Given the description of an element on the screen output the (x, y) to click on. 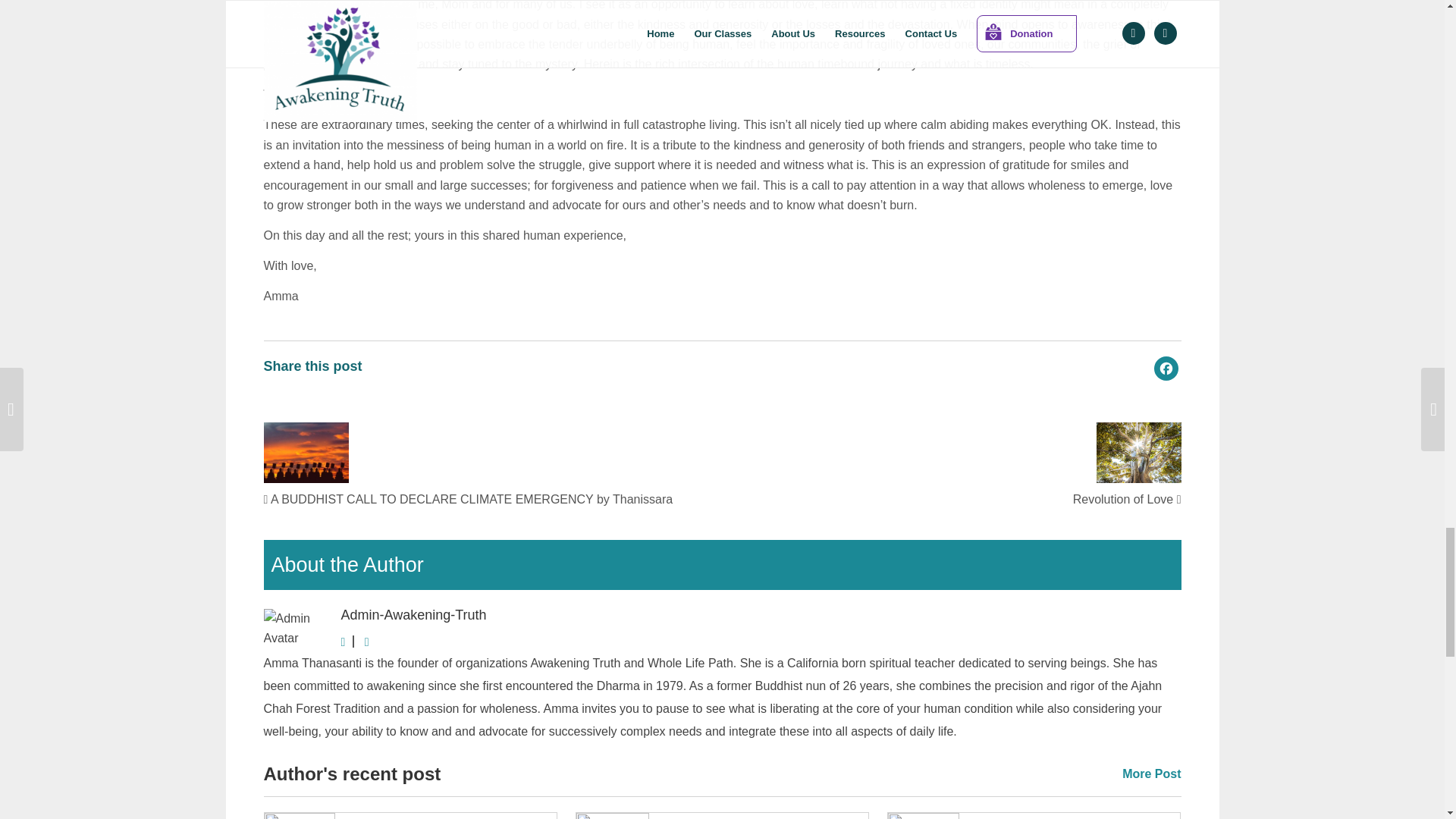
A BUDDHIST CALL TO DECLARE CLIMATE EMERGENCY by Thanissara (467, 499)
